Given the description of an element on the screen output the (x, y) to click on. 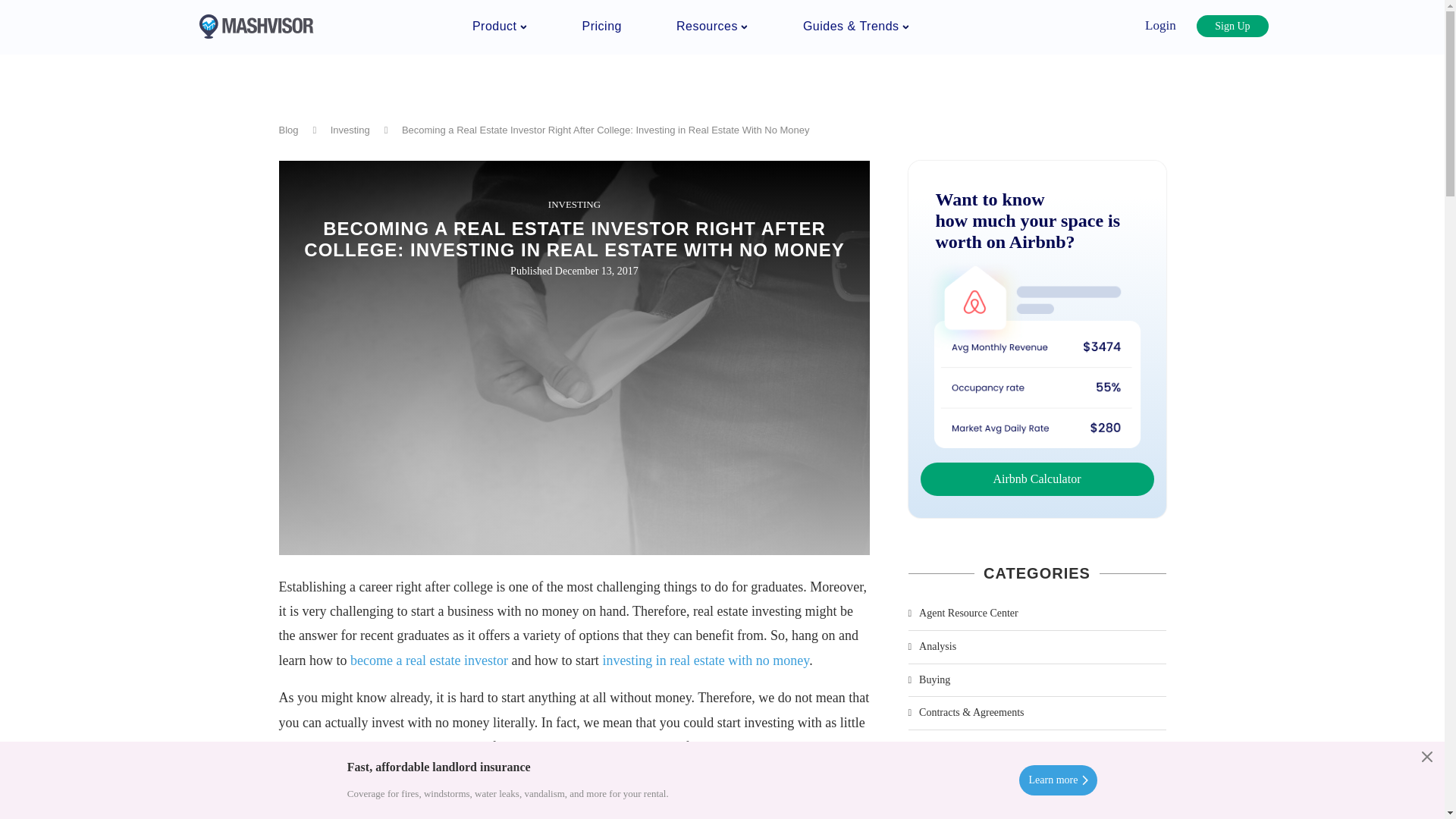
Resources (712, 25)
Blog (288, 129)
Product (499, 25)
Pricing (601, 25)
